Given the description of an element on the screen output the (x, y) to click on. 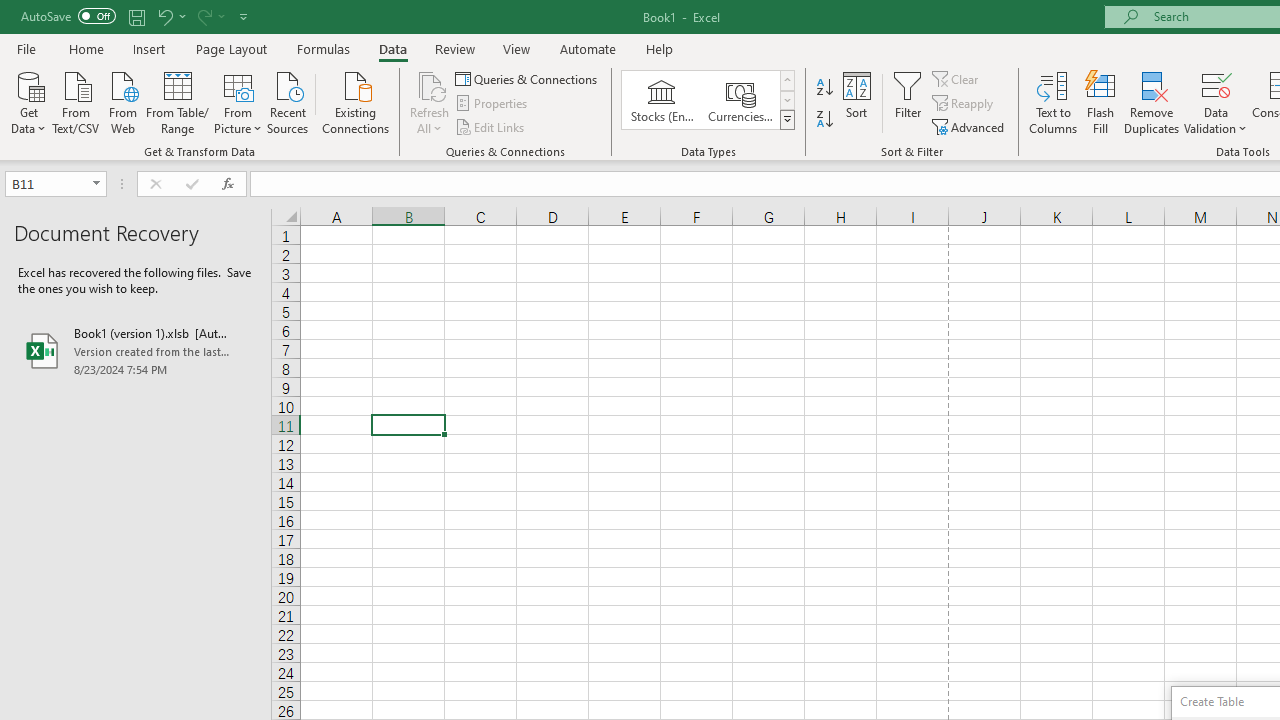
Reapply (964, 103)
Recent Sources (287, 101)
Edit Links (491, 126)
Filter (908, 102)
Get Data (28, 101)
From Web (122, 101)
Sort Z to A (824, 119)
From Table/Range (177, 101)
